Given the description of an element on the screen output the (x, y) to click on. 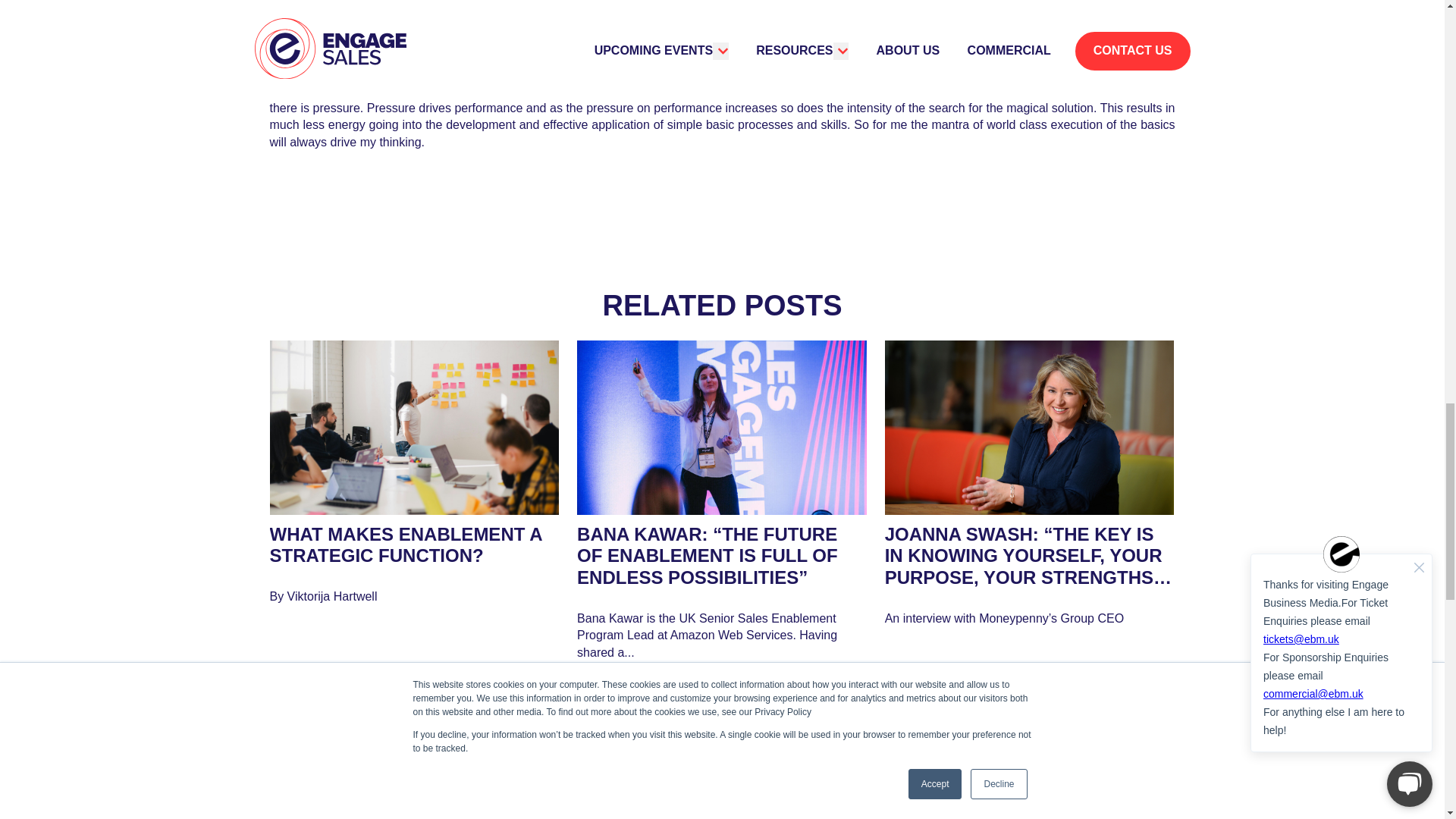
WHAT MAKES ENABLEMENT A STRATEGIC FUNCTION? (405, 545)
READ MORE (324, 697)
